Given the description of an element on the screen output the (x, y) to click on. 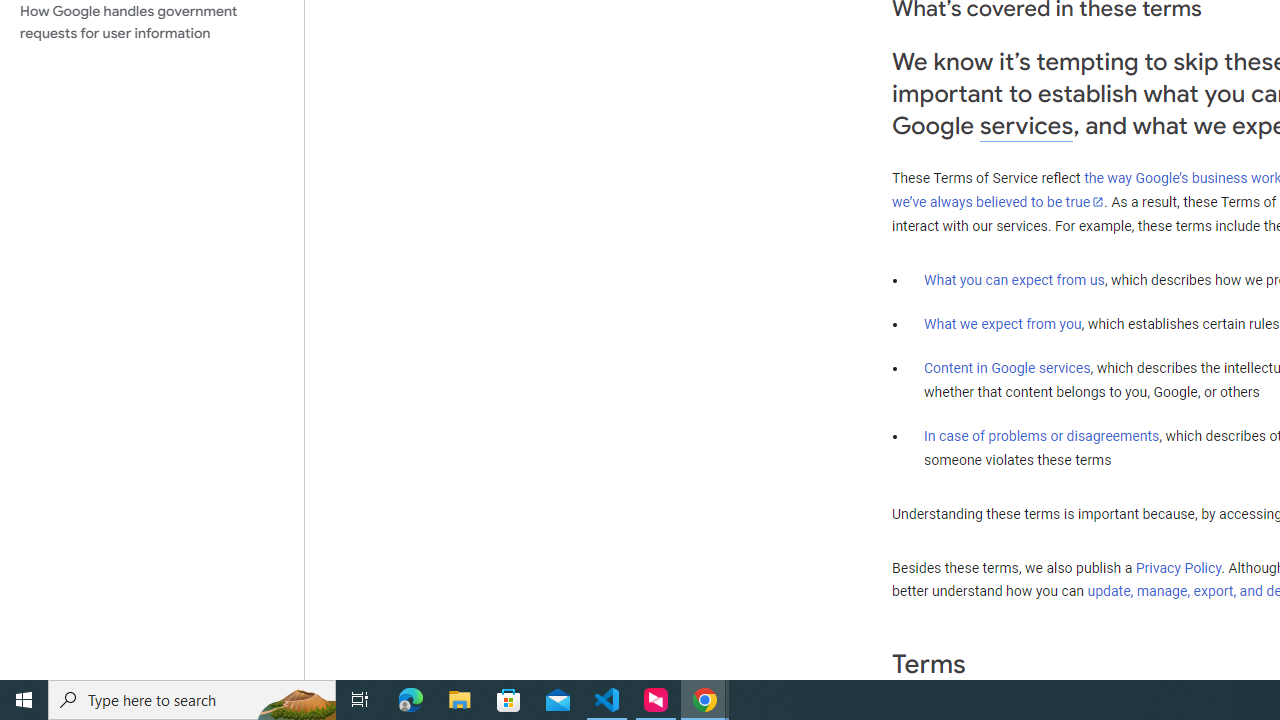
What we expect from you (1002, 323)
services (1026, 125)
What you can expect from us (1014, 279)
